Given the description of an element on the screen output the (x, y) to click on. 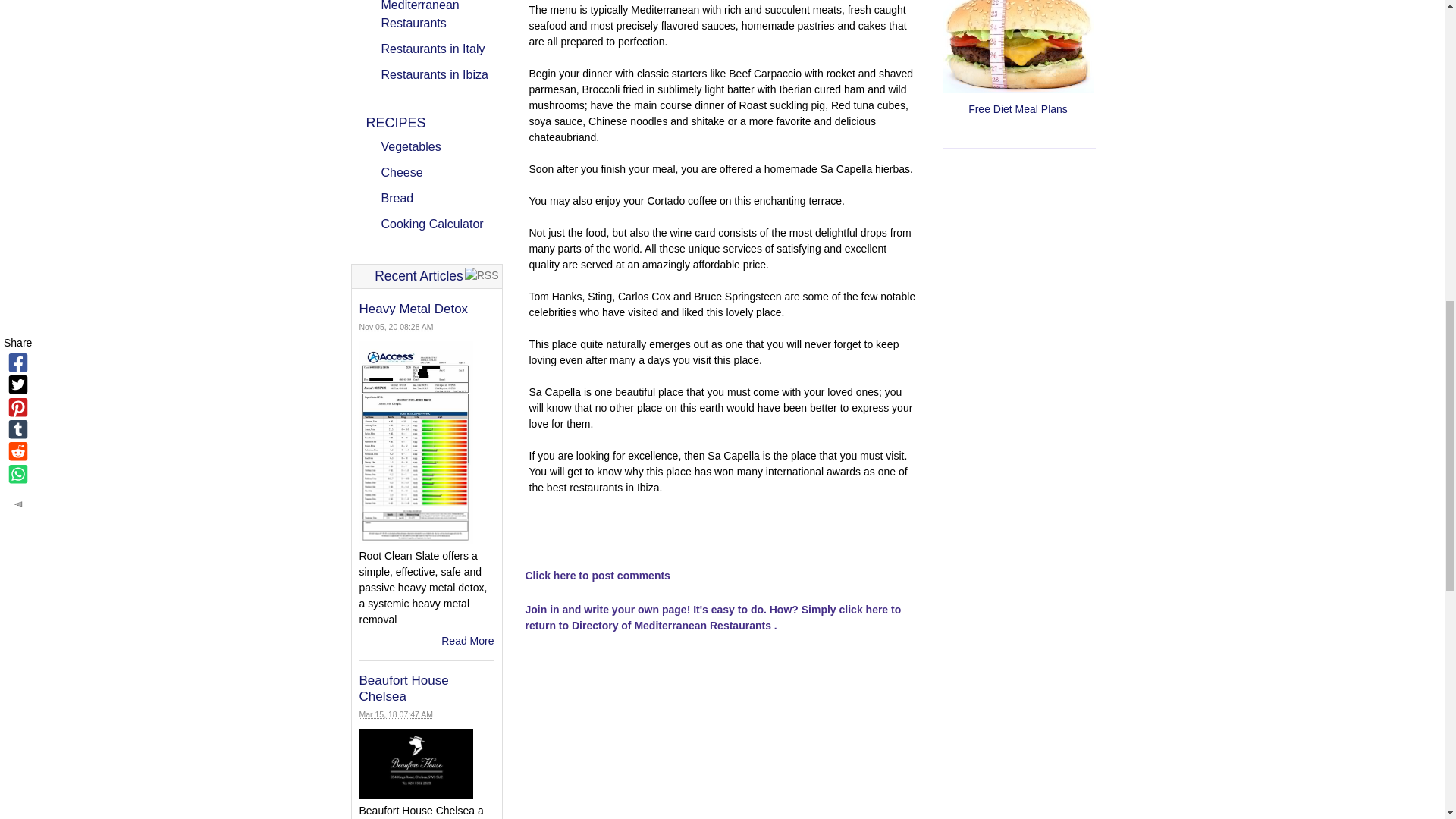
Cheese (441, 172)
free diet meal plans (1017, 46)
Restaurants in Ibiza (441, 75)
2020-11-05T08:28:42-0500 (396, 326)
Mediterranean Restaurants (441, 16)
Recent Articles (418, 275)
Cooking Calculator (441, 224)
Read More (467, 640)
Beaufort House Chelsea (403, 687)
